Given the description of an element on the screen output the (x, y) to click on. 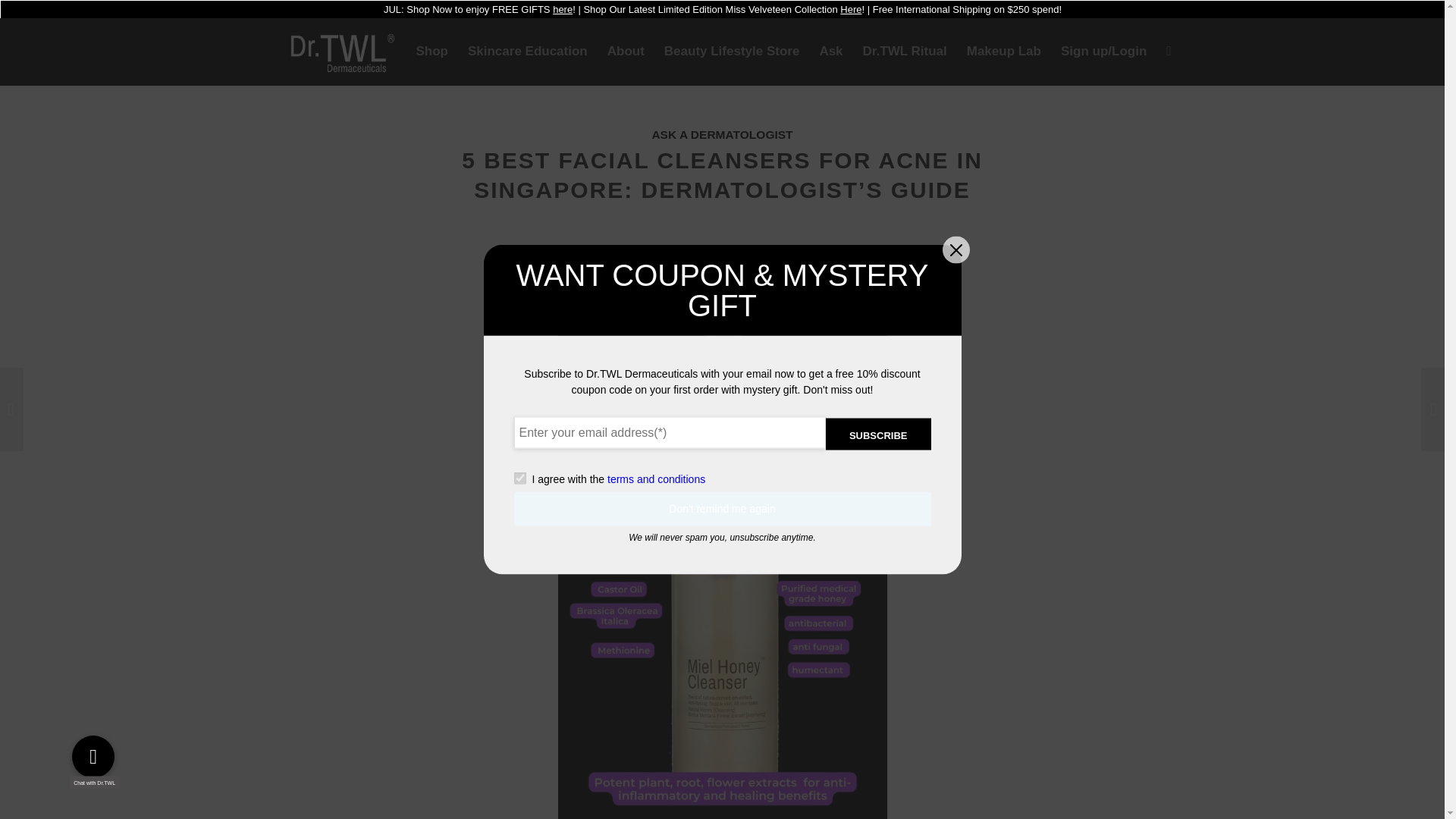
on (519, 478)
JUL: Shop Now to enjoy FREE GIFTS here! (479, 9)
